Given the description of an element on the screen output the (x, y) to click on. 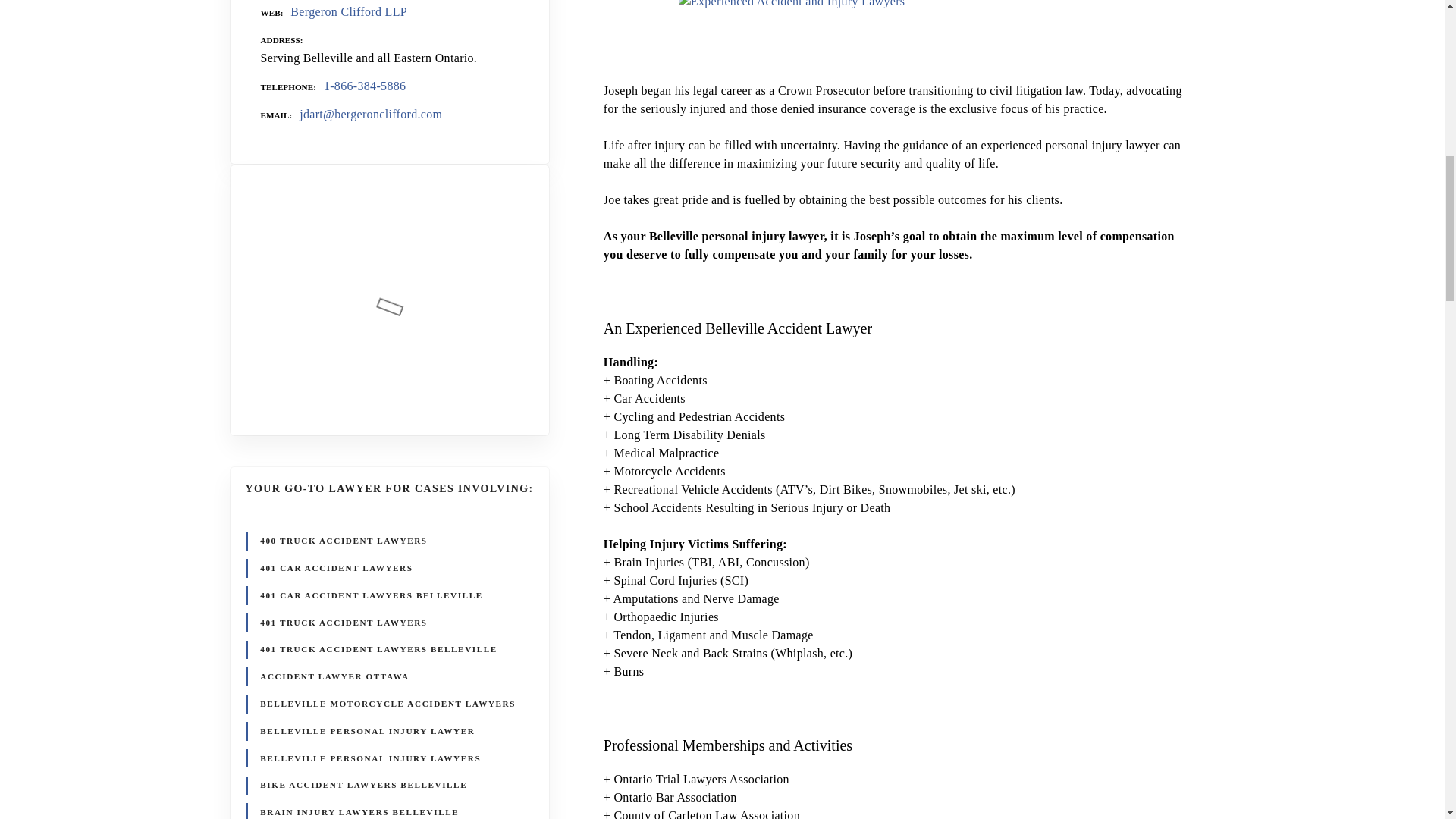
BIKE ACCIDENT LAWYERS BELLEVILLE (363, 785)
Bergeron Clifford LLP (348, 11)
401 TRUCK ACCIDENT LAWYERS BELLEVILLE (378, 650)
BELLEVILLE MOTORCYCLE ACCIDENT LAWYERS (387, 703)
401 CAR ACCIDENT LAWYERS BELLEVILLE (371, 595)
BRAIN INJURY LAWYERS BELLEVILLE (358, 811)
401 CAR ACCIDENT LAWYERS (336, 568)
401 TRUCK ACCIDENT LAWYERS (343, 622)
BELLEVILLE PERSONAL INJURY LAWYER (366, 731)
ACCIDENT LAWYER OTTAWA (334, 676)
